Given the description of an element on the screen output the (x, y) to click on. 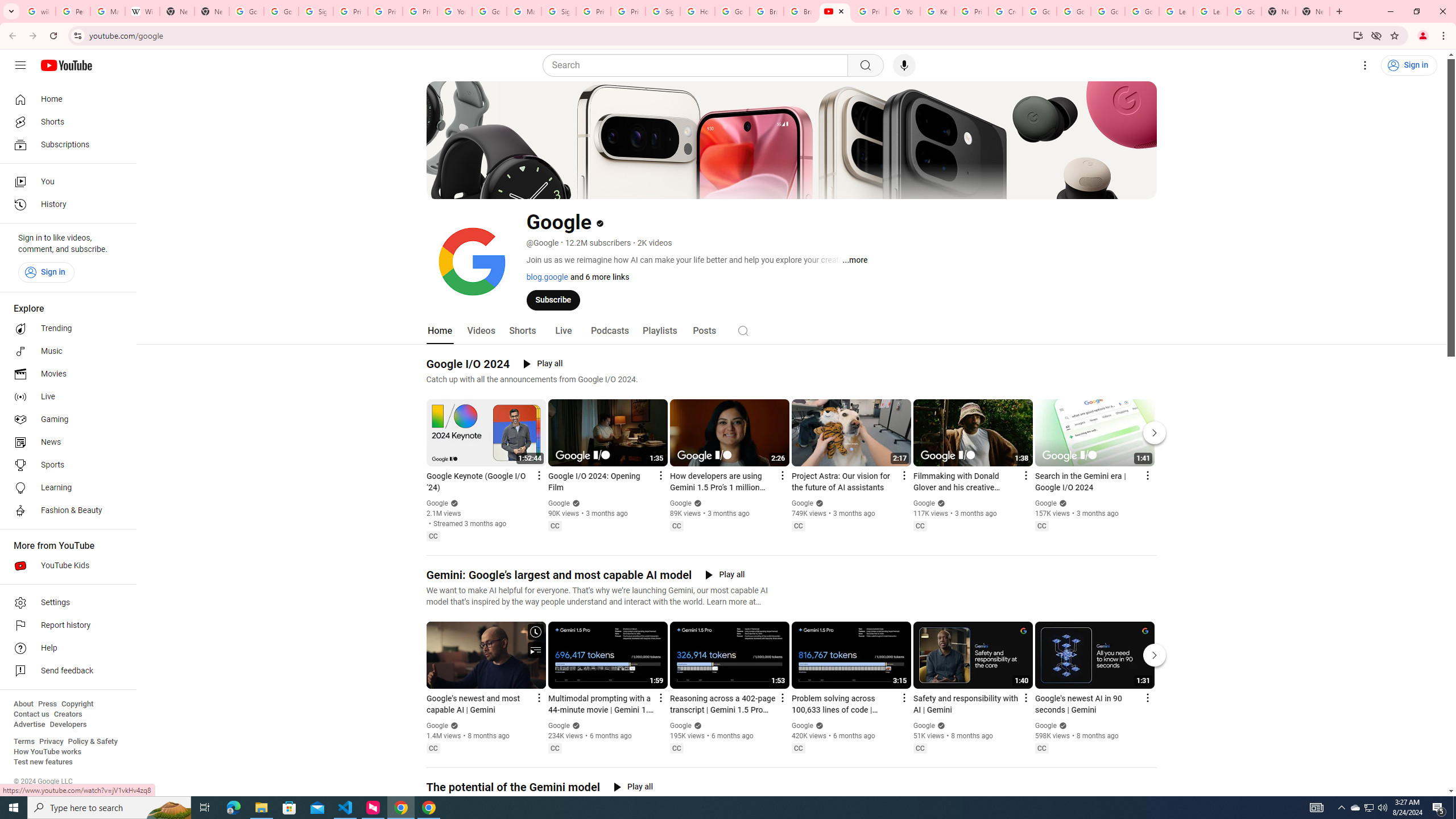
Google - YouTube (834, 11)
Contact us (31, 714)
Live (64, 396)
Guide (20, 65)
Podcasts (608, 330)
News (64, 441)
Live (562, 330)
Sign in - Google Accounts (315, 11)
